Given the description of an element on the screen output the (x, y) to click on. 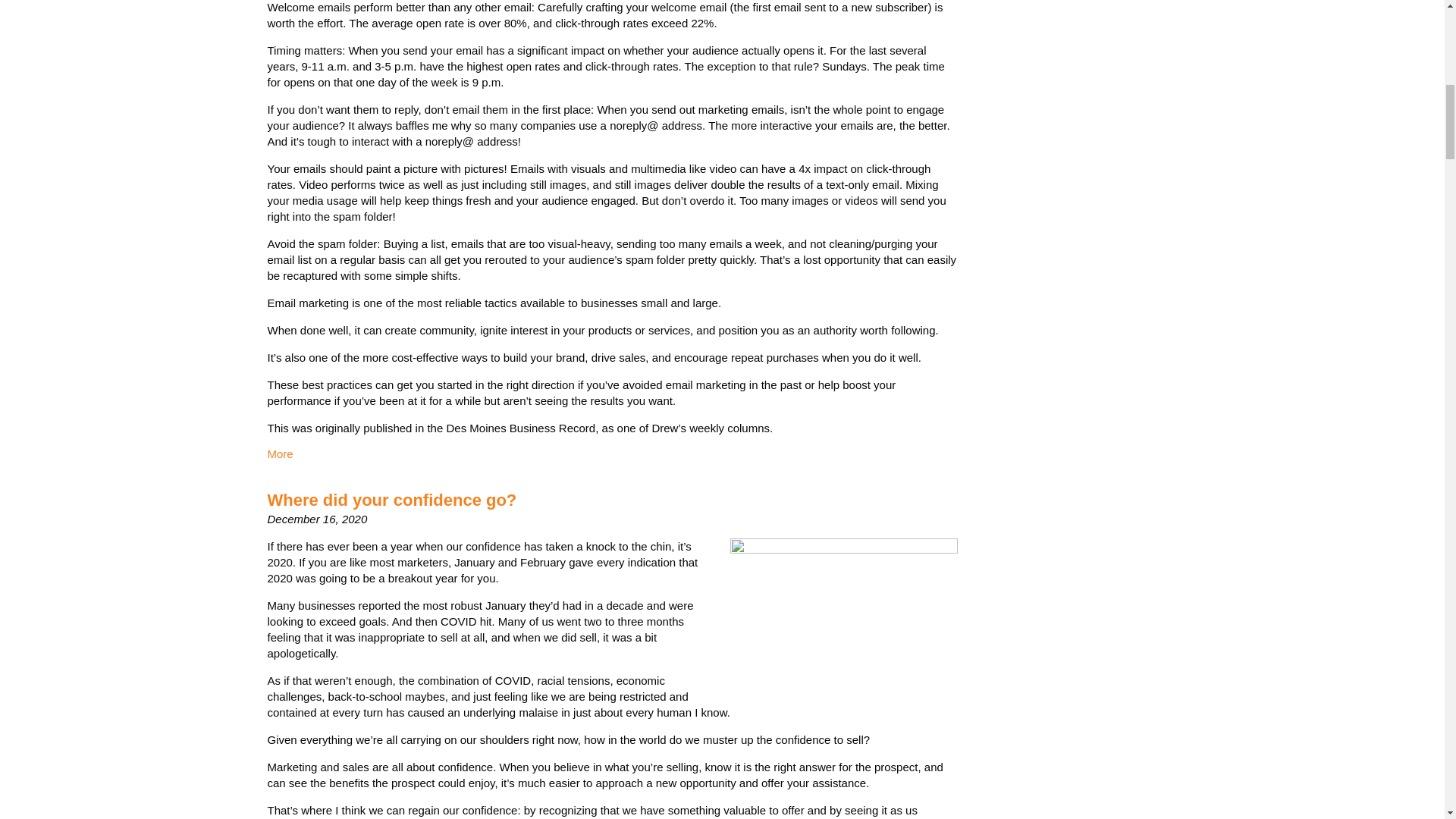
Where did your confidence go? (391, 499)
Where did your confidence go? (391, 499)
More (279, 453)
